Given the description of an element on the screen output the (x, y) to click on. 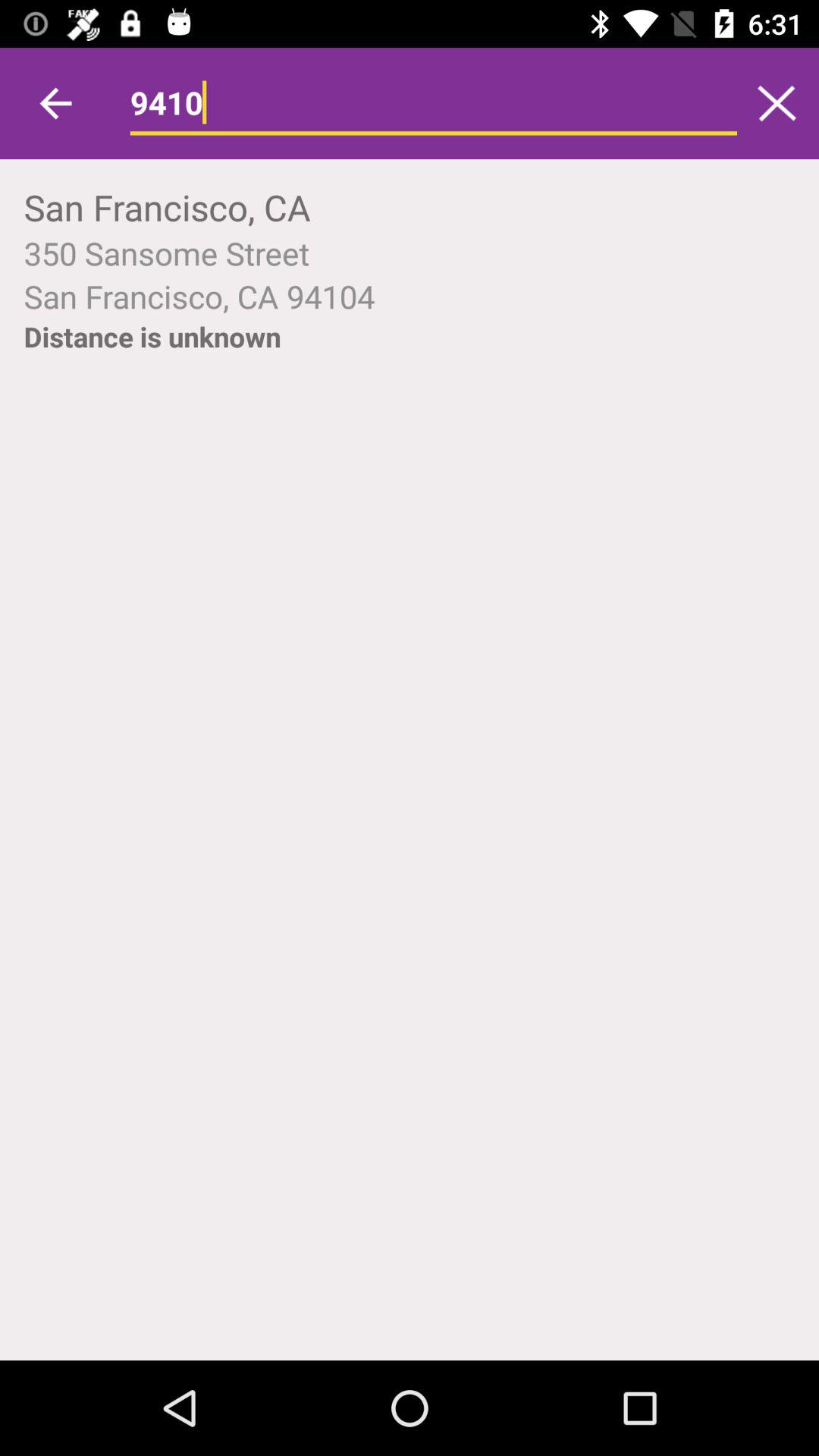
select icon above the san francisco, ca item (55, 103)
